Given the description of an element on the screen output the (x, y) to click on. 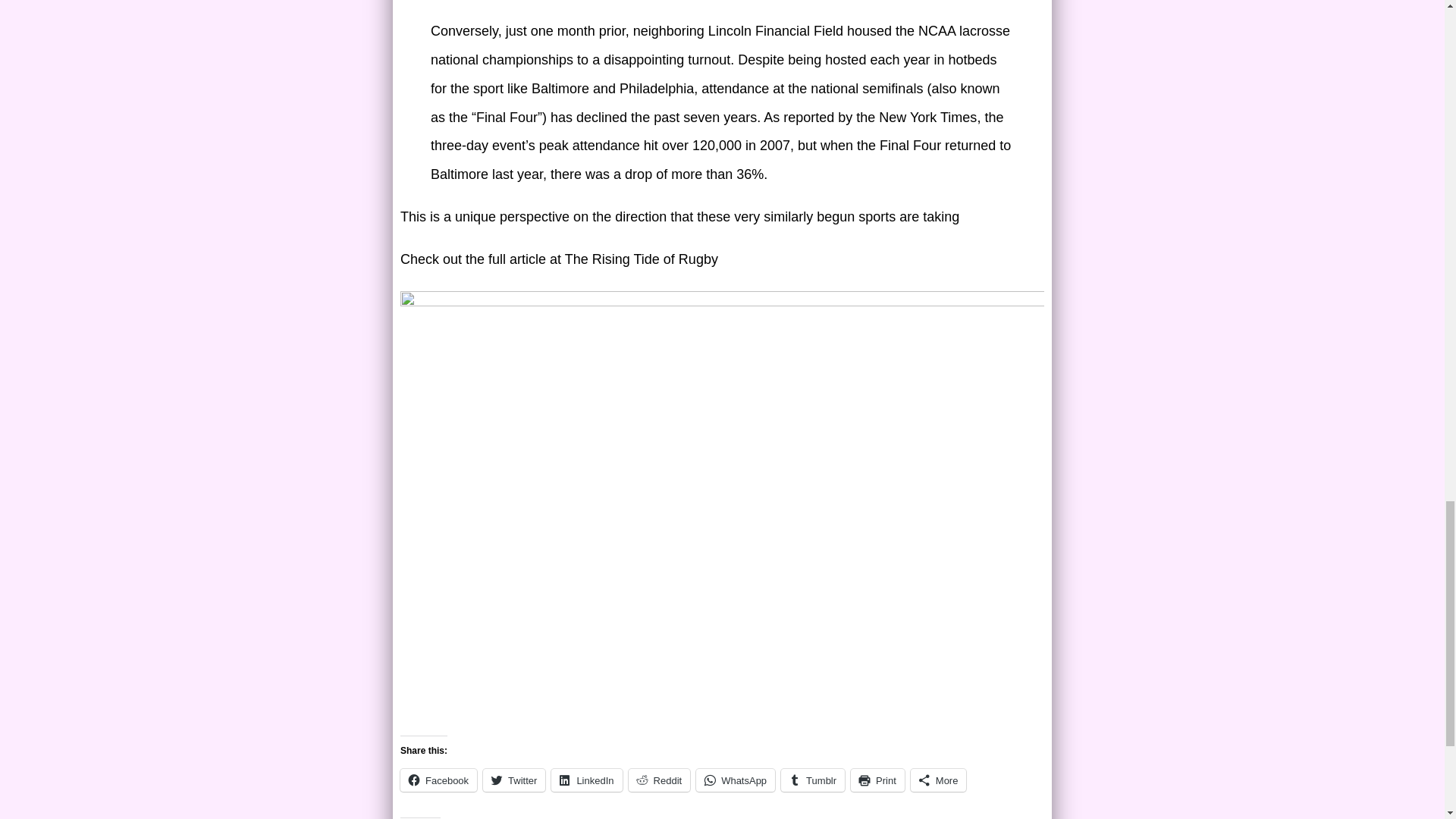
Click to share on Reddit (659, 780)
Click to print (877, 780)
Click to share on LinkedIn (586, 780)
Click to share on WhatsApp (734, 780)
Click to share on Facebook (438, 780)
Click to share on Twitter (513, 780)
Click to share on Tumblr (812, 780)
